Given the description of an element on the screen output the (x, y) to click on. 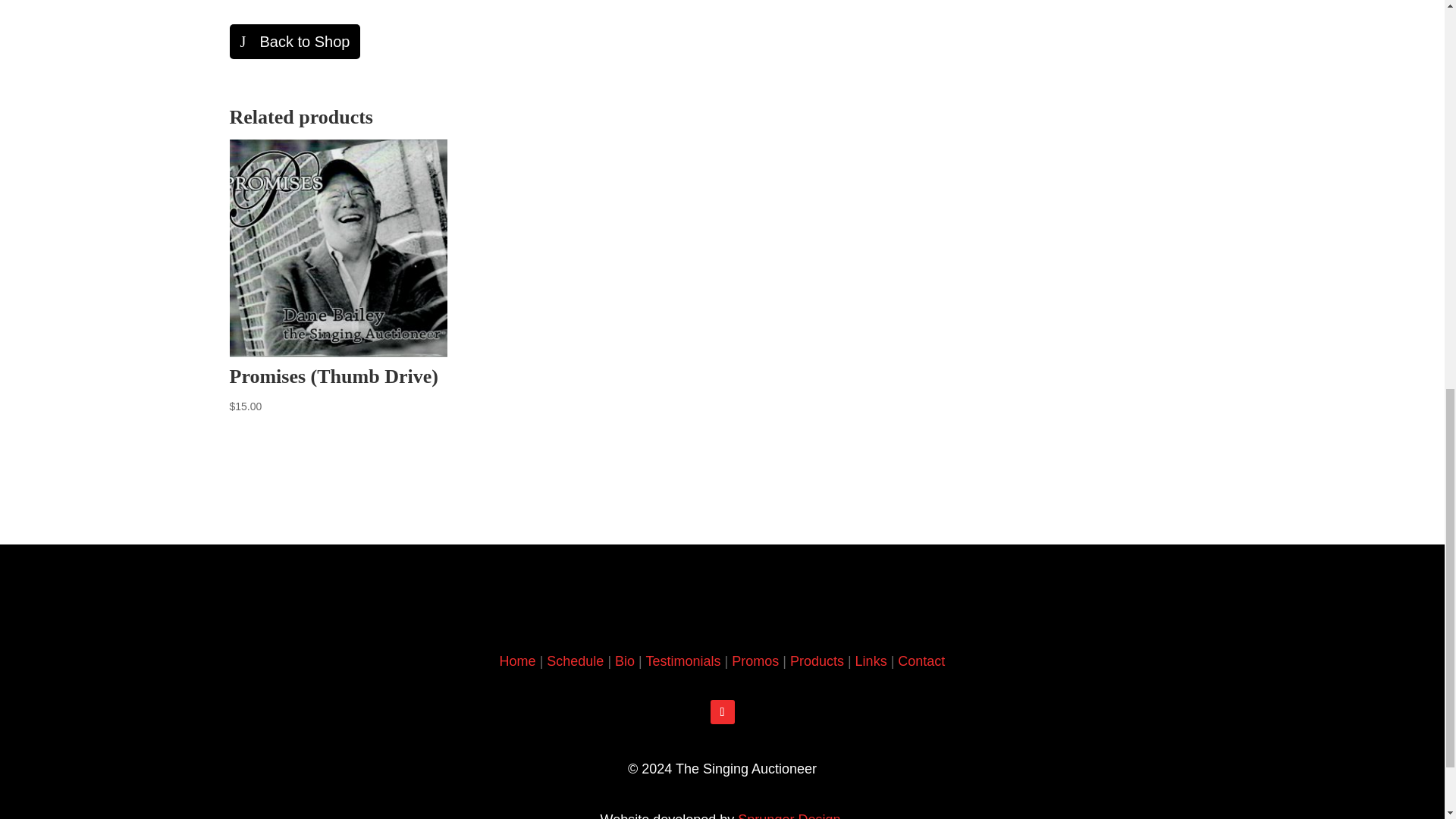
Promos (755, 661)
Products (817, 661)
Home (517, 661)
Schedule (575, 661)
Links (871, 661)
Follow on Facebook (721, 711)
Back to Shop (293, 41)
Bio (624, 661)
Testimonials (682, 661)
